Given the description of an element on the screen output the (x, y) to click on. 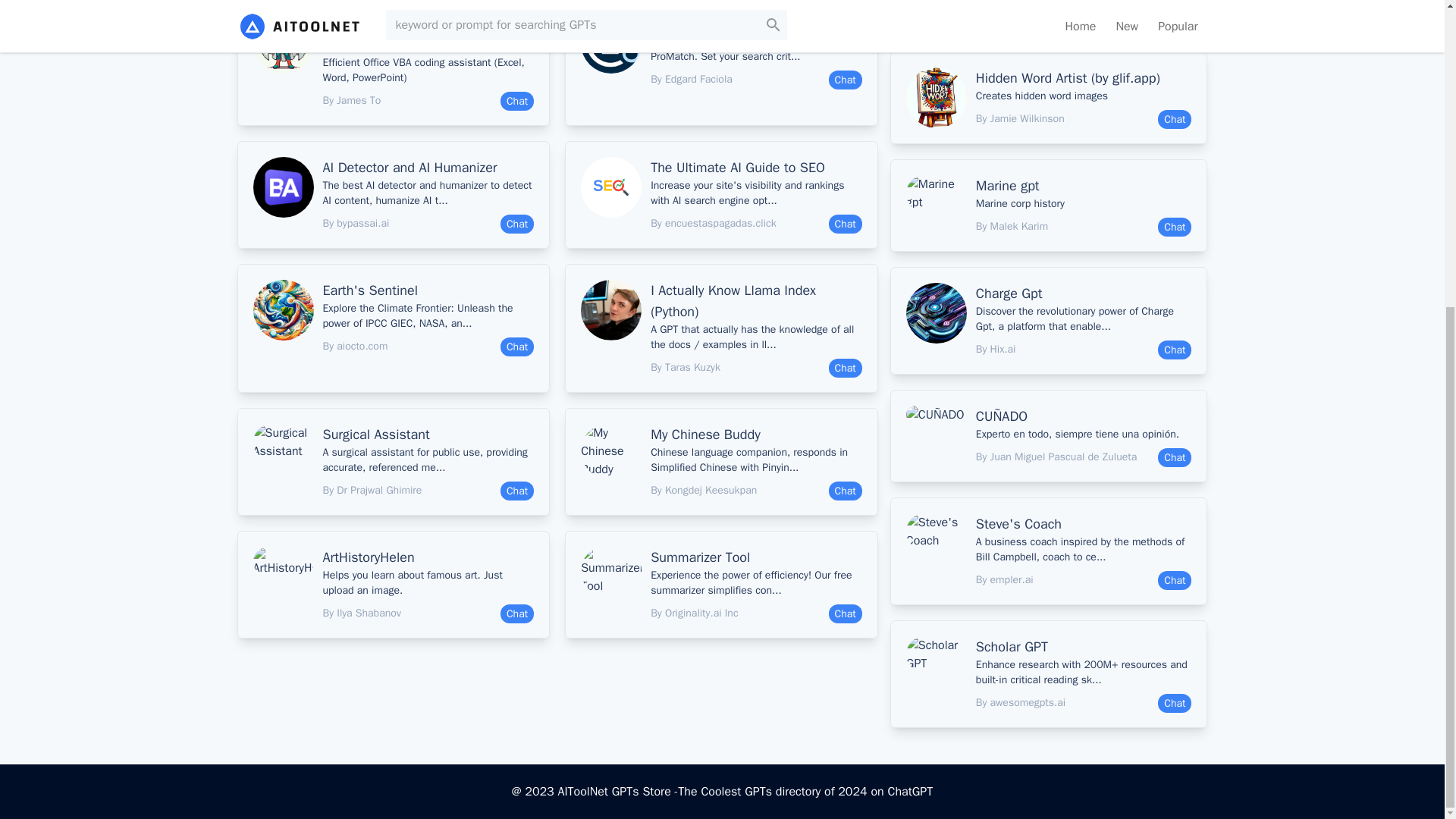
Chat (517, 100)
Chat (844, 79)
Earth's Sentinel (428, 290)
My Chinese Buddy (755, 434)
AI Detector and AI Humanizer (428, 167)
AI Detector and AI Humanizer (428, 167)
The Ultimate AI Guide to SEO (755, 167)
Surgical Assistant (428, 434)
Chat (517, 346)
PropMatch (755, 23)
ArtHistoryHelen (428, 557)
Earth's Sentinel (428, 290)
PropMatch (755, 23)
Chat (844, 223)
Chat (517, 223)
